Given the description of an element on the screen output the (x, y) to click on. 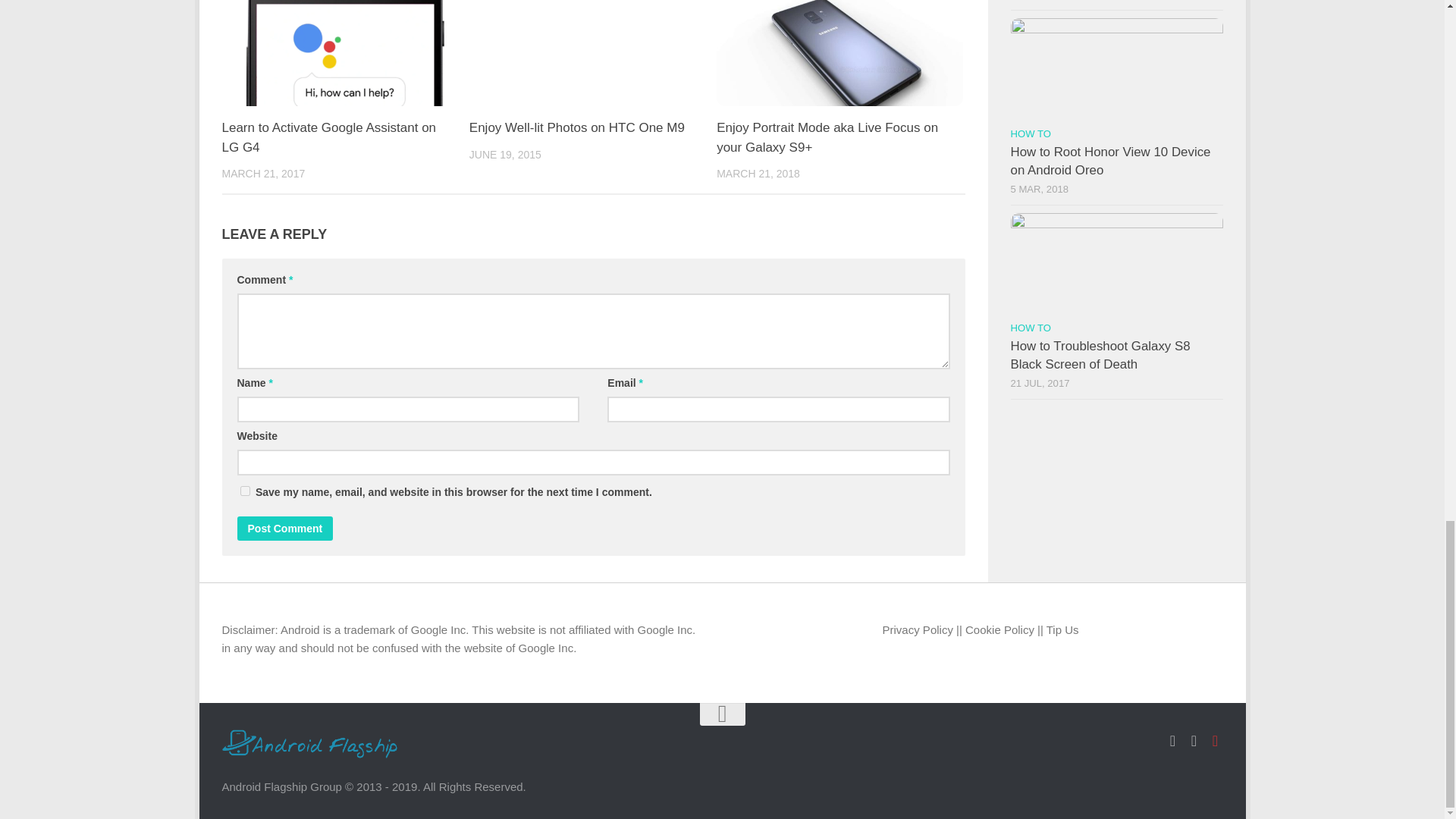
Post Comment (284, 528)
Permalink to Enjoy Well-lit Photos on HTC One M9 (576, 127)
Post Comment (284, 528)
Permalink to Learn to Activate Google Assistant on LG G4 (328, 137)
Enjoy Well-lit Photos on HTC One M9 (576, 127)
Learn to Activate Google Assistant on LG G4 (328, 137)
yes (244, 491)
